Given the description of an element on the screen output the (x, y) to click on. 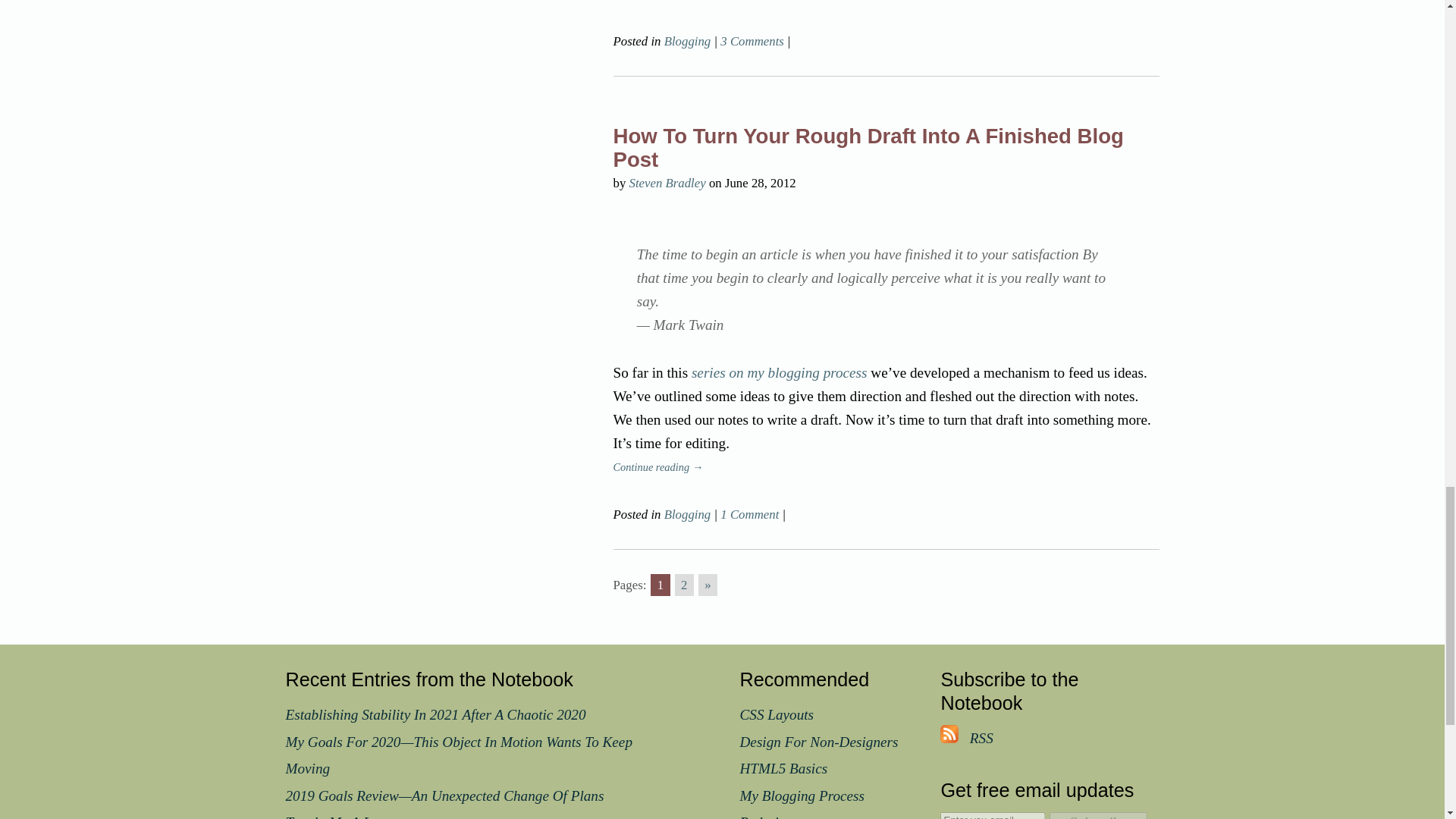
Look Establishing Stability In 2021 After A Chaotic 2020 (435, 714)
My Blogging Process (801, 795)
CSS Layouts (776, 714)
Design For Non-Designers (818, 741)
Subscribe (1098, 815)
HTML5 Basics (783, 768)
